Given the description of an element on the screen output the (x, y) to click on. 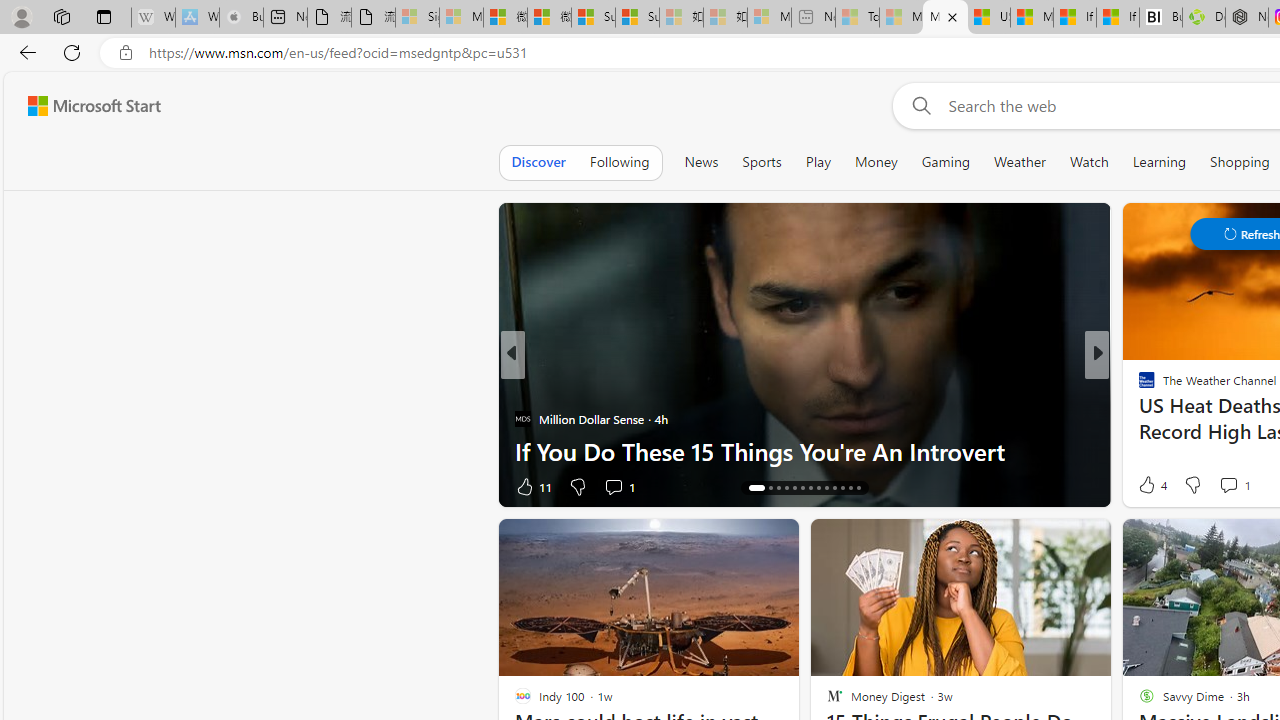
AutomationID: tab-22 (825, 487)
View comments 5 Comment (1229, 485)
View comments 35 Comment (1244, 486)
123 Like (1151, 486)
Top Stories - MSN - Sleeping (857, 17)
The Register (1138, 418)
spot on news (1138, 418)
View comments 35 Comment (1234, 485)
View comments 53 Comment (1234, 485)
Sign in to your Microsoft account - Sleeping (417, 17)
